Given the description of an element on the screen output the (x, y) to click on. 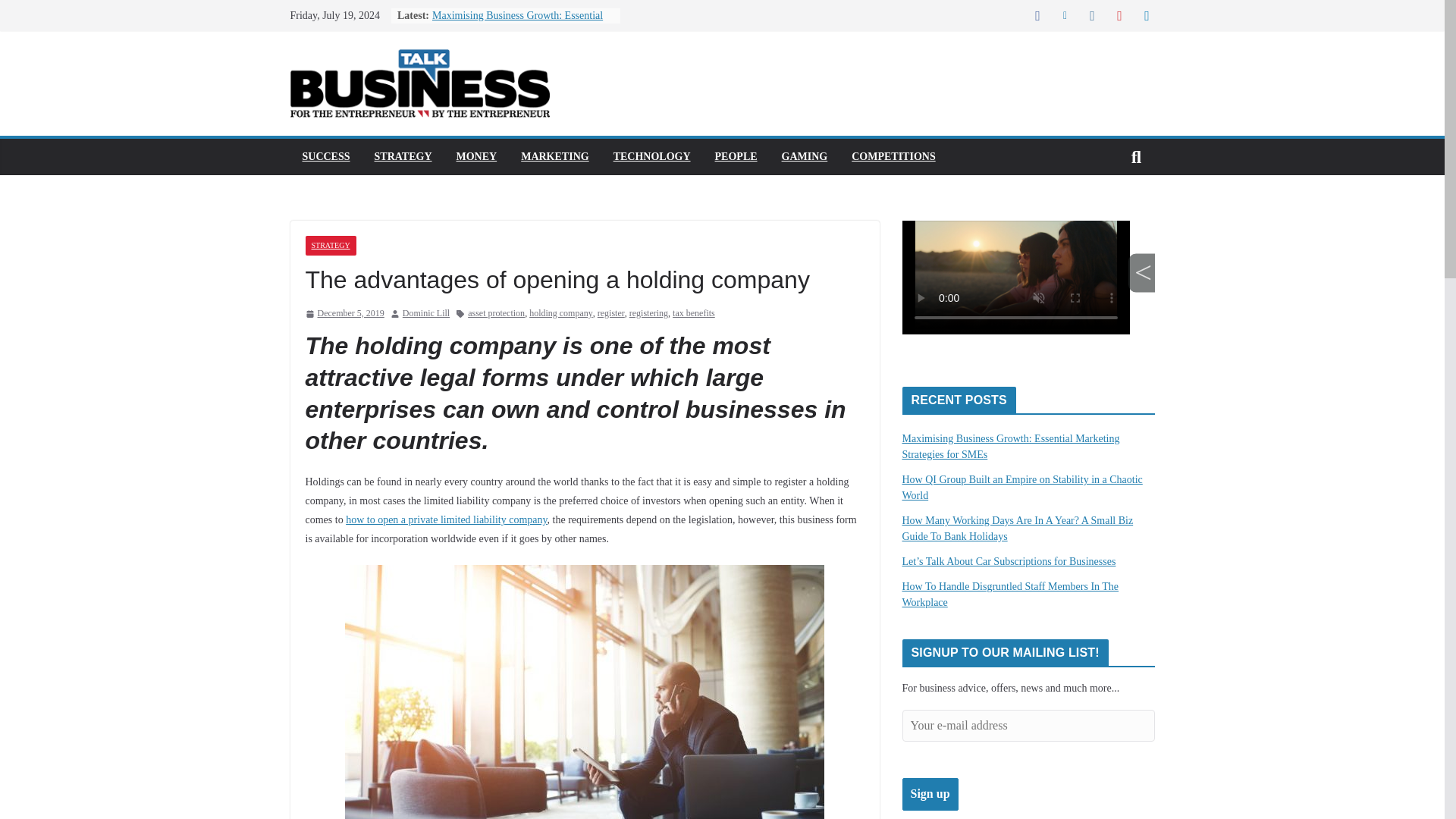
SUCCESS (325, 156)
Dominic Lill (426, 313)
COMPETITIONS (892, 156)
PEOPLE (735, 156)
GAMING (804, 156)
STRATEGY (329, 245)
how to open a private limited liability company (446, 519)
Sign up (930, 794)
3rd party ad content (1028, 291)
registering (648, 313)
holding company (560, 313)
MARKETING (554, 156)
